Given the description of an element on the screen output the (x, y) to click on. 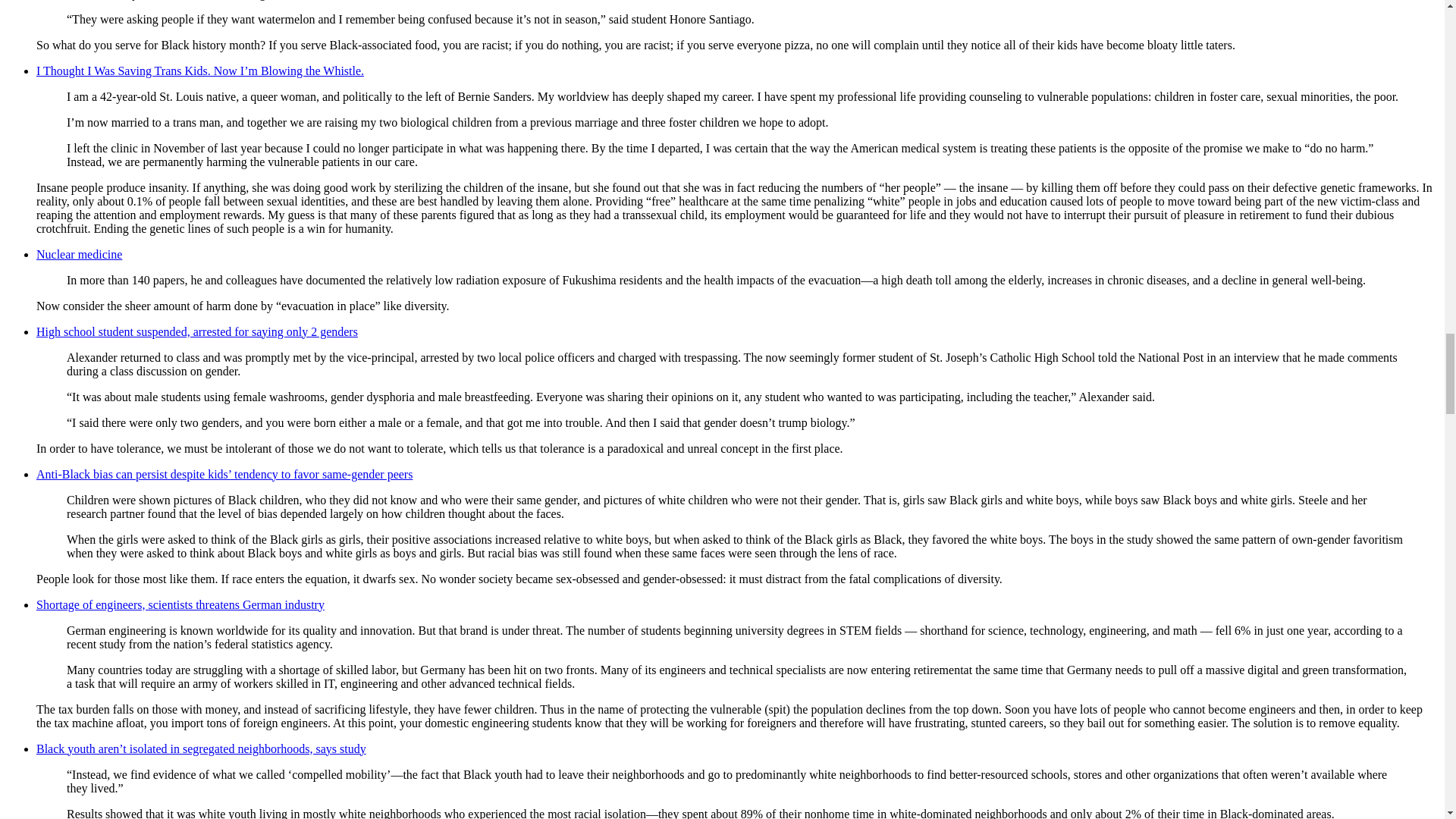
Nuclear medicine (79, 254)
Shortage of engineers, scientists threatens German industry (180, 604)
